Given the description of an element on the screen output the (x, y) to click on. 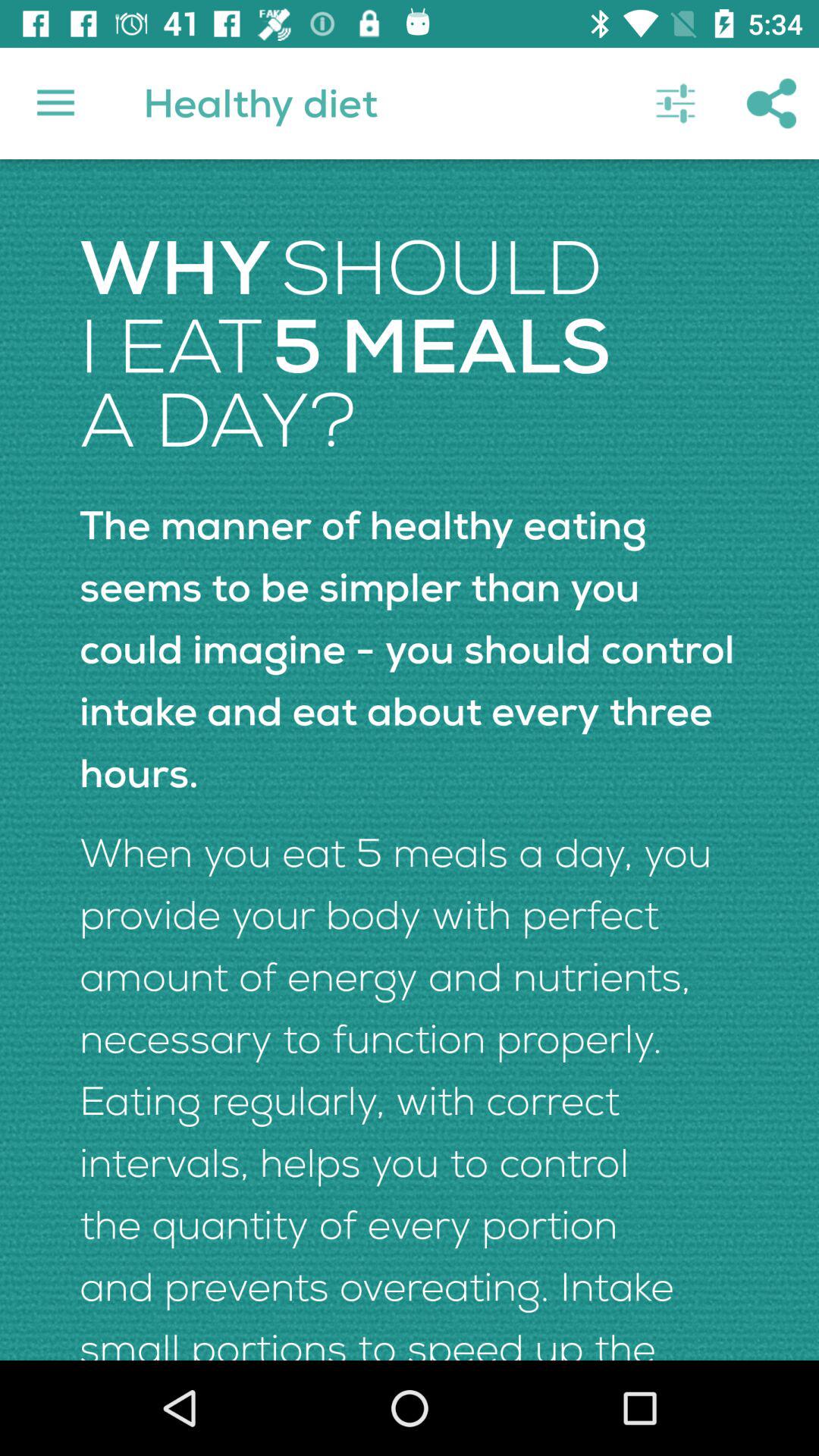
turn off icon above the the manner of icon (771, 103)
